Given the description of an element on the screen output the (x, y) to click on. 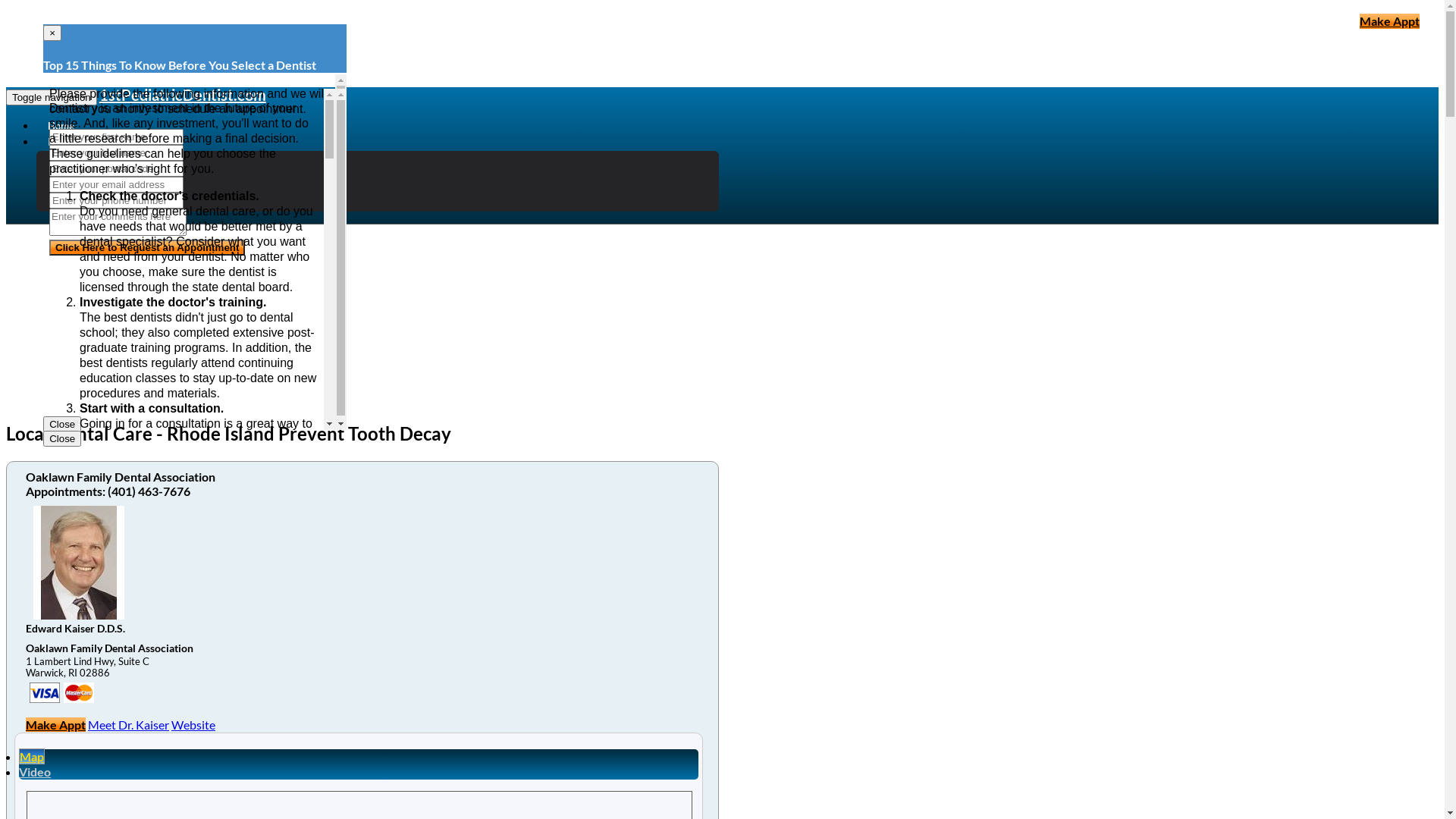
my title Element type: hover (44, 692)
Website Element type: text (193, 724)
Make Appt Element type: text (1389, 20)
Pediatric Dentistry Articles Element type: text (108, 141)
Kid's Dentistry Element type: text (105, 203)
my title Element type: hover (78, 692)
Close Element type: text (62, 424)
Advertisement Element type: hover (362, 300)
Make Appt Element type: text (55, 724)
Toggle navigation Element type: text (51, 97)
Close Element type: text (62, 438)
Map Element type: text (31, 756)
Pediatric Dentist Element type: text (110, 157)
1stPediatricDentist.com Element type: text (182, 94)
Video Element type: text (34, 771)
Home Element type: text (60, 125)
Baby Teeth Element type: text (95, 188)
Kid's Dentistry Element type: text (105, 173)
Meet Dr. Kaiser Element type: text (128, 724)
